Given the description of an element on the screen output the (x, y) to click on. 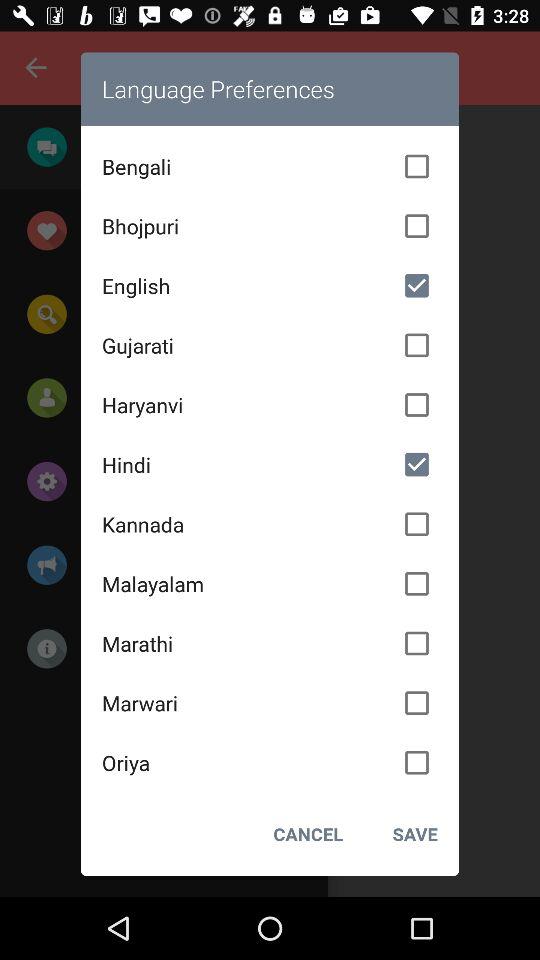
press the bhojpuri icon (270, 226)
